Given the description of an element on the screen output the (x, y) to click on. 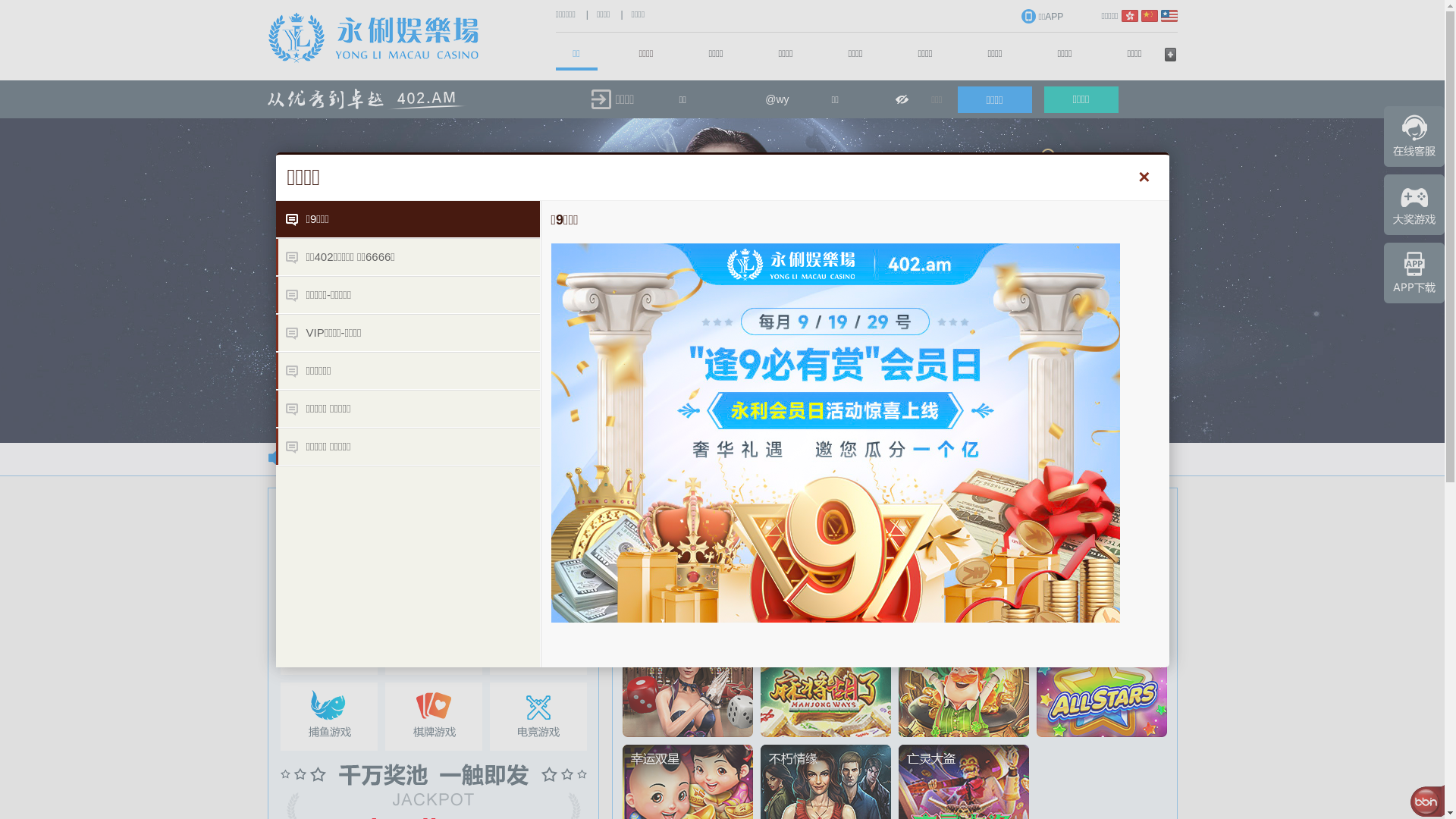
English Element type: hover (1168, 15)
